Given the description of an element on the screen output the (x, y) to click on. 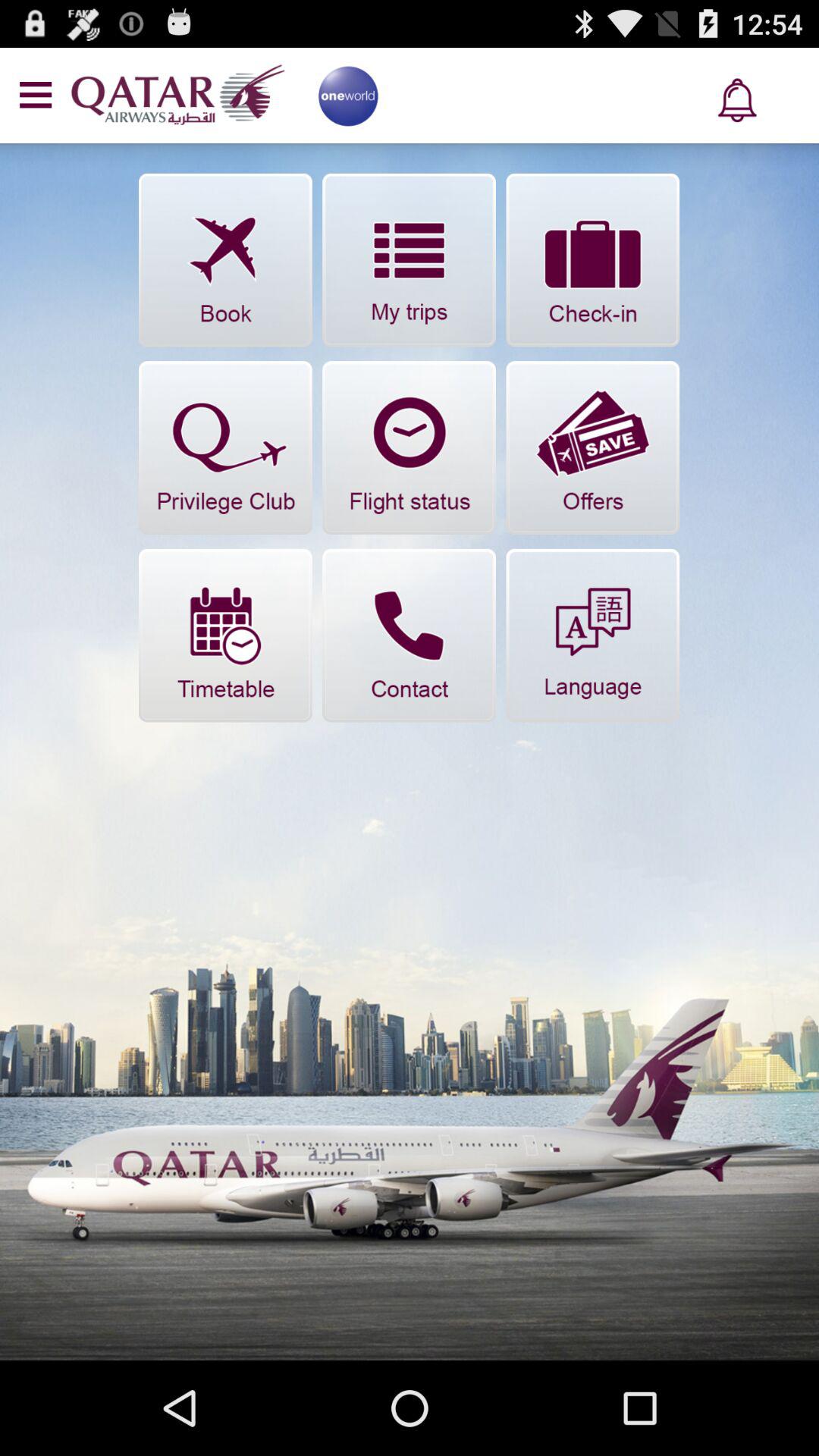
check in airport (592, 259)
